Given the description of an element on the screen output the (x, y) to click on. 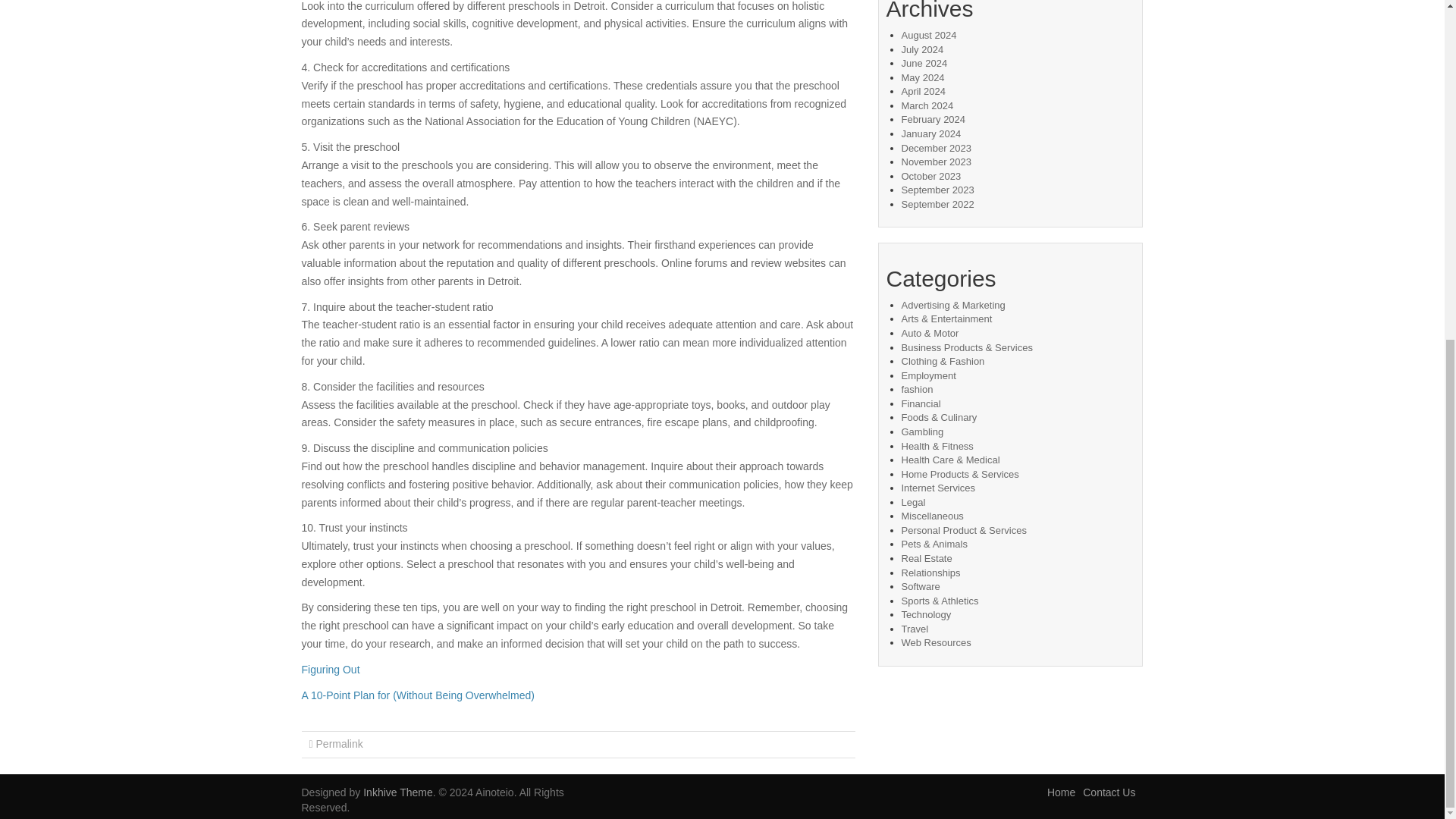
April 2024 (922, 91)
March 2024 (927, 105)
August 2024 (928, 34)
June 2024 (924, 62)
July 2024 (922, 49)
Employment (928, 375)
Financial (920, 403)
September 2023 (937, 189)
Permalink (338, 743)
May 2024 (922, 77)
